Given the description of an element on the screen output the (x, y) to click on. 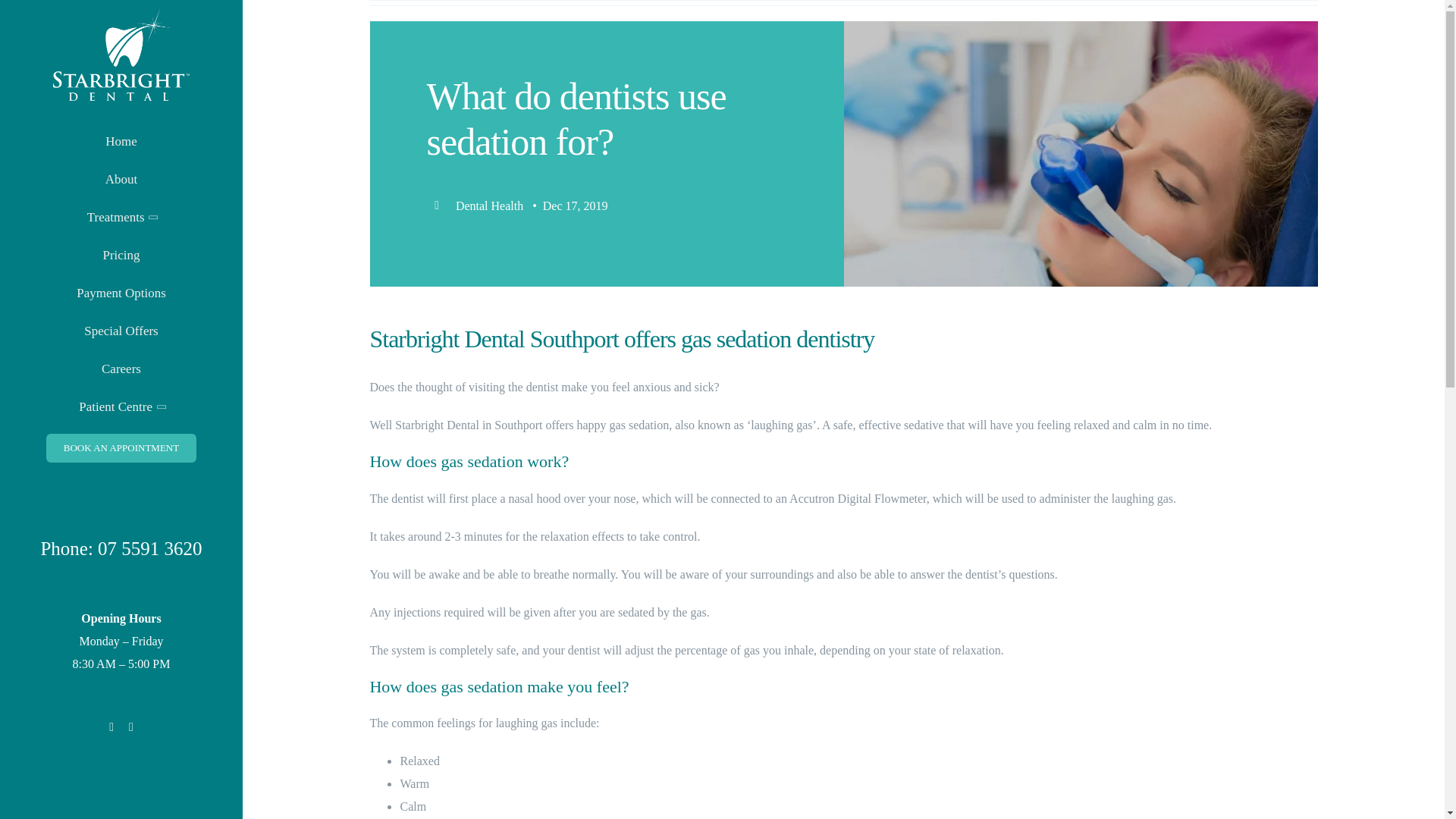
Pricing (121, 255)
Payment Options (121, 292)
Patient Centre (121, 406)
Treatments (121, 217)
BOOK AN APPOINTMENT (121, 448)
About (121, 179)
Special Offers (121, 331)
Careers (121, 368)
Home (121, 141)
